Given the description of an element on the screen output the (x, y) to click on. 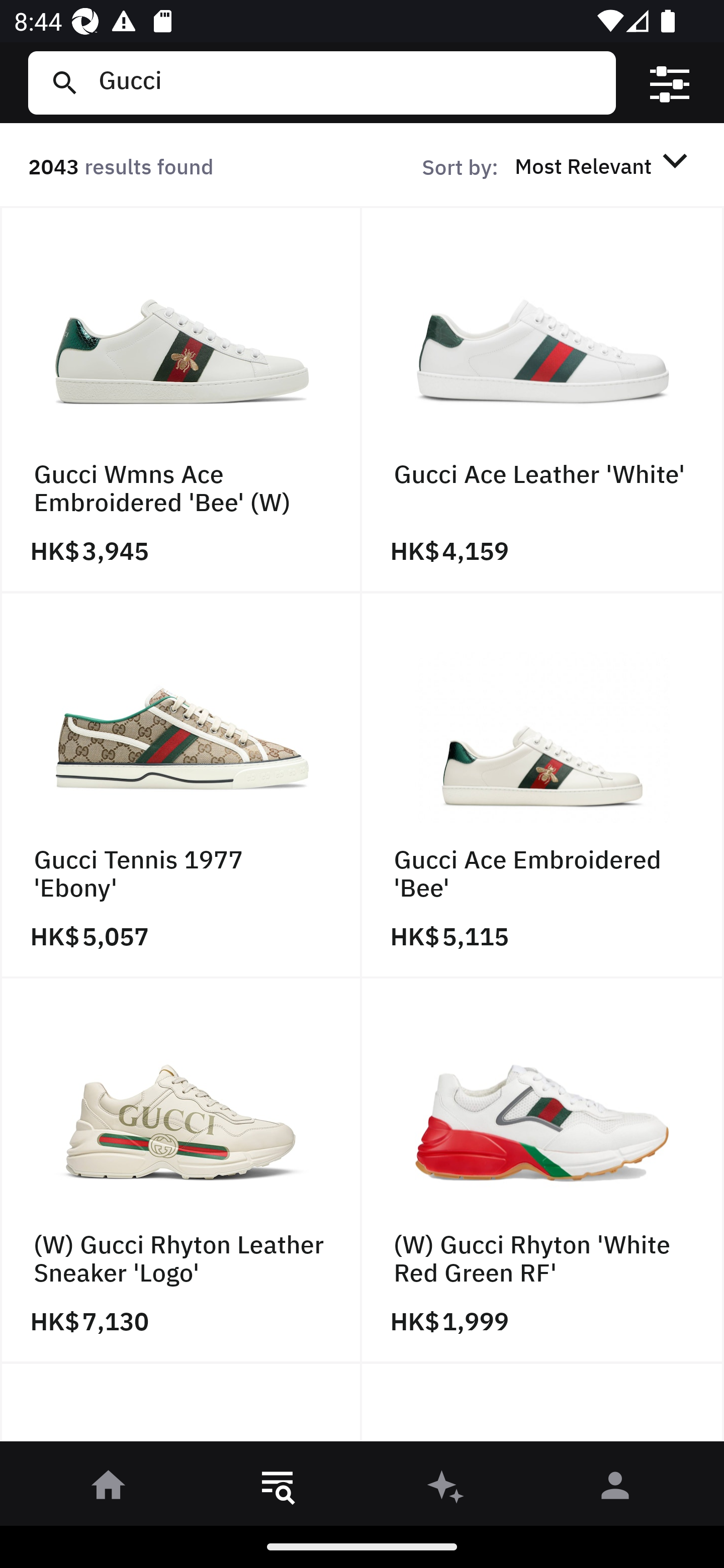
Gucci (349, 82)
 (669, 82)
Most Relevant  (604, 165)
Gucci Wmns Ace Embroidered 'Bee' (W) HK$ 3,945 (181, 399)
Gucci Ace Leather 'White' HK$ 4,159 (543, 399)
Gucci Tennis 1977 'Ebony' HK$ 5,057 (181, 785)
Gucci Ace Embroidered 'Bee' HK$ 5,115 (543, 785)
(W) Gucci Rhyton Leather Sneaker 'Logo' HK$ 7,130 (181, 1171)
(W) Gucci Rhyton 'White Red Green RF' HK$ 1,999 (543, 1171)
󰋜 (108, 1488)
󱎸 (277, 1488)
󰫢 (446, 1488)
󰀄 (615, 1488)
